Given the description of an element on the screen output the (x, y) to click on. 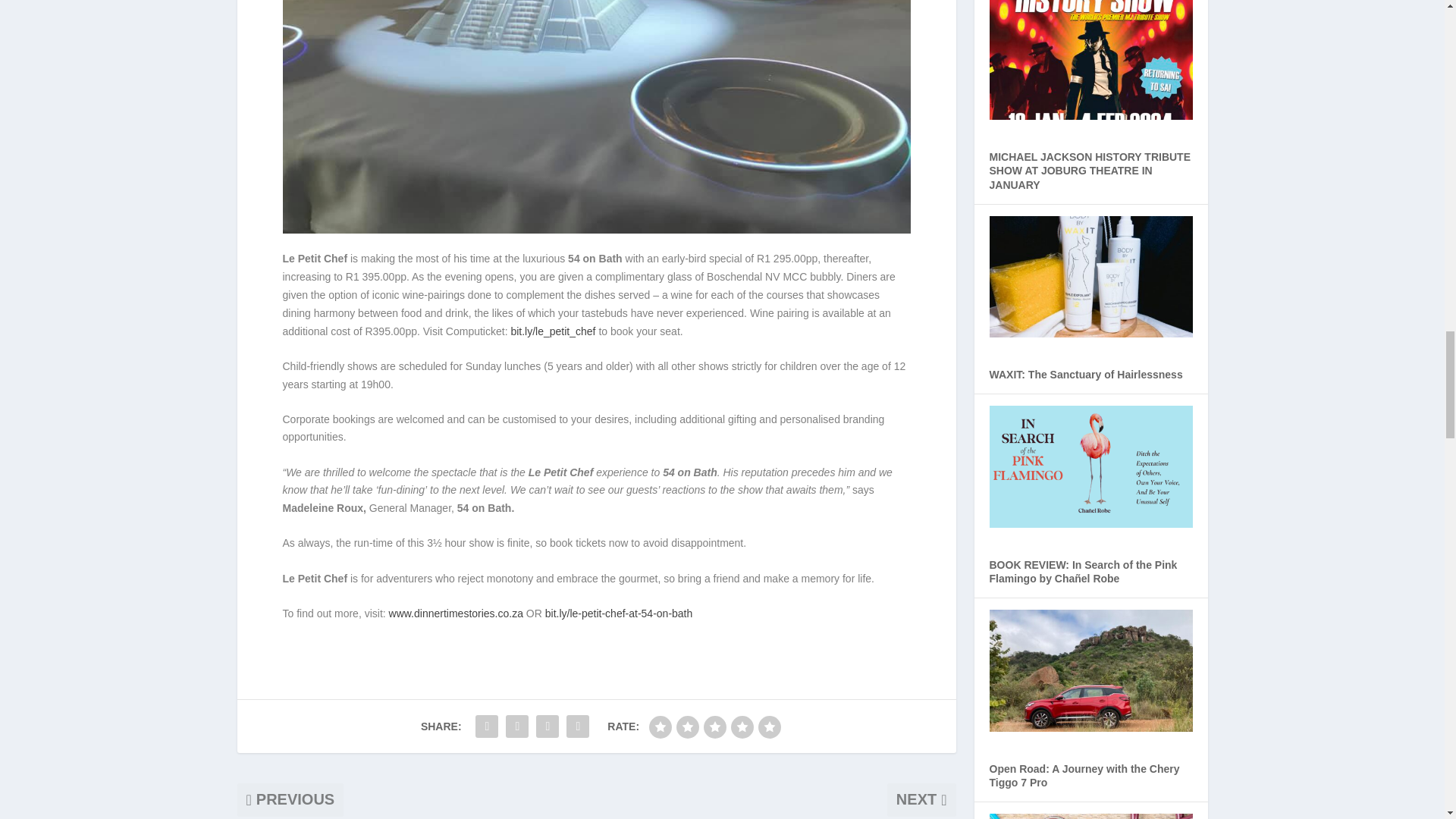
good (742, 726)
poor (687, 726)
bad (660, 726)
regular (714, 726)
gorgeous (769, 726)
